Given the description of an element on the screen output the (x, y) to click on. 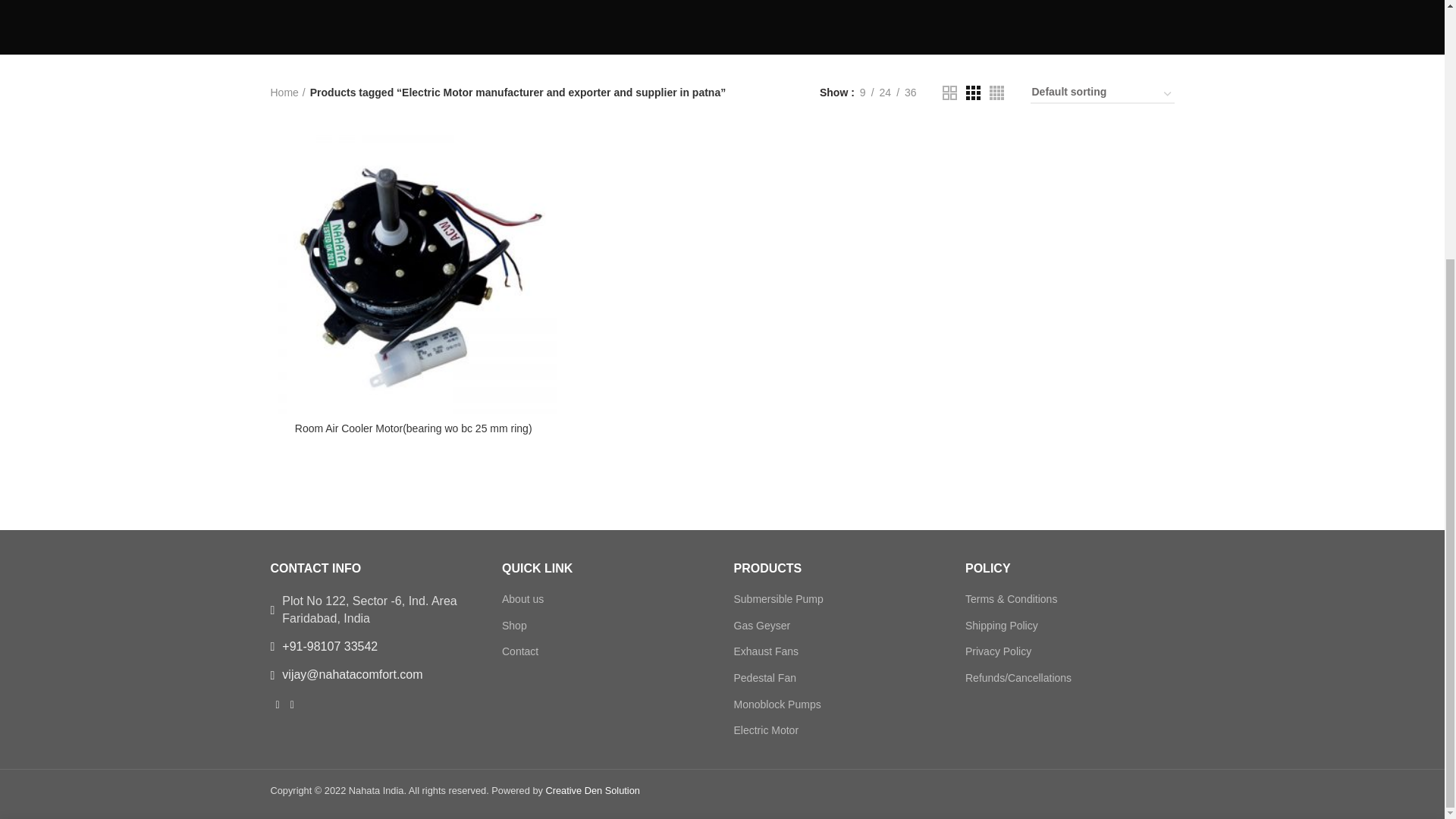
website designing company in faridabad (593, 4)
